Given the description of an element on the screen output the (x, y) to click on. 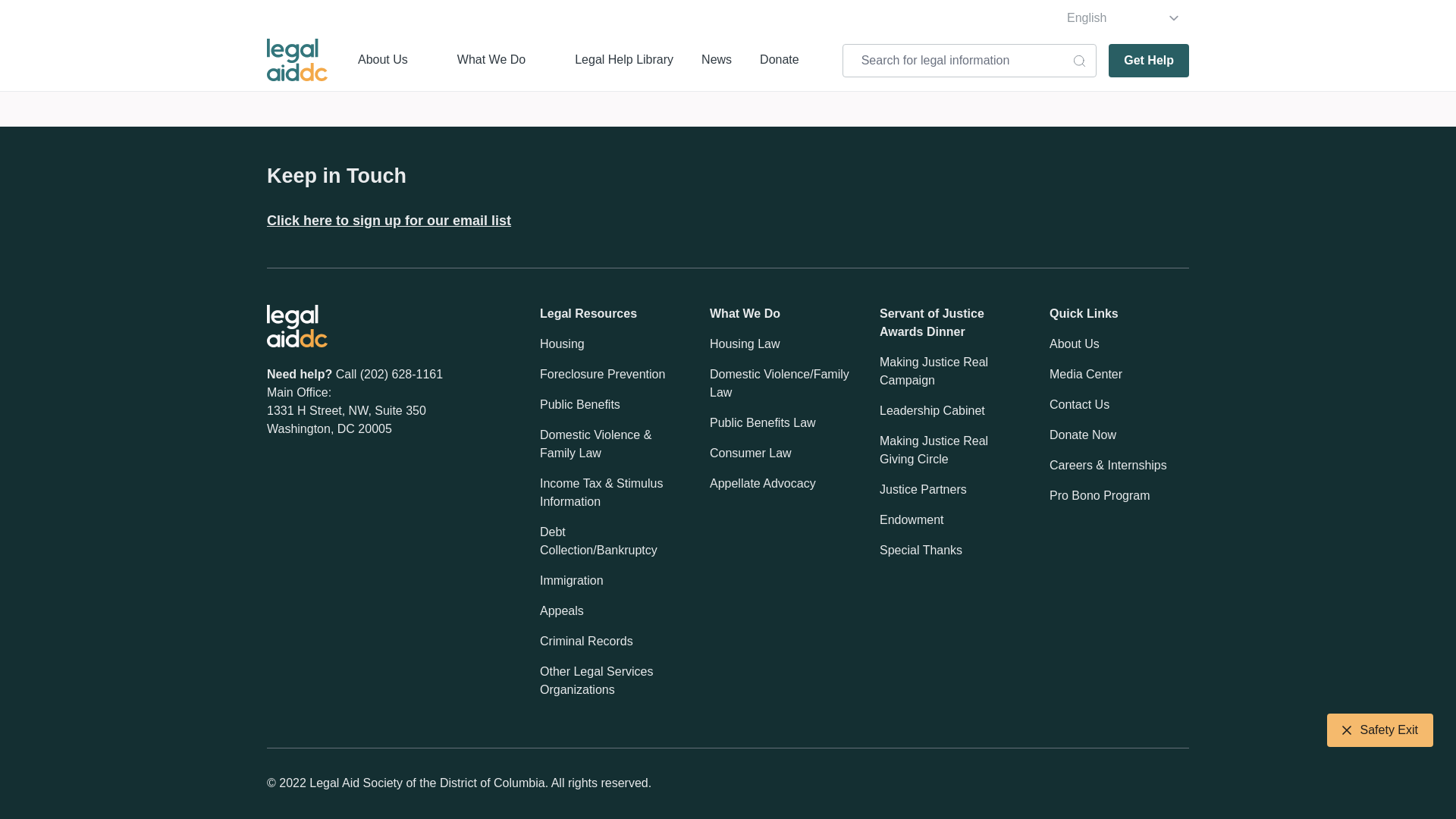
Foreclosure Prevention (602, 374)
Public Benefits (580, 404)
Go To Home (785, 16)
Legal Resources (588, 313)
Get Online Help (679, 16)
Housing (562, 343)
Click here to sign up for our email list (388, 220)
